Given the description of an element on the screen output the (x, y) to click on. 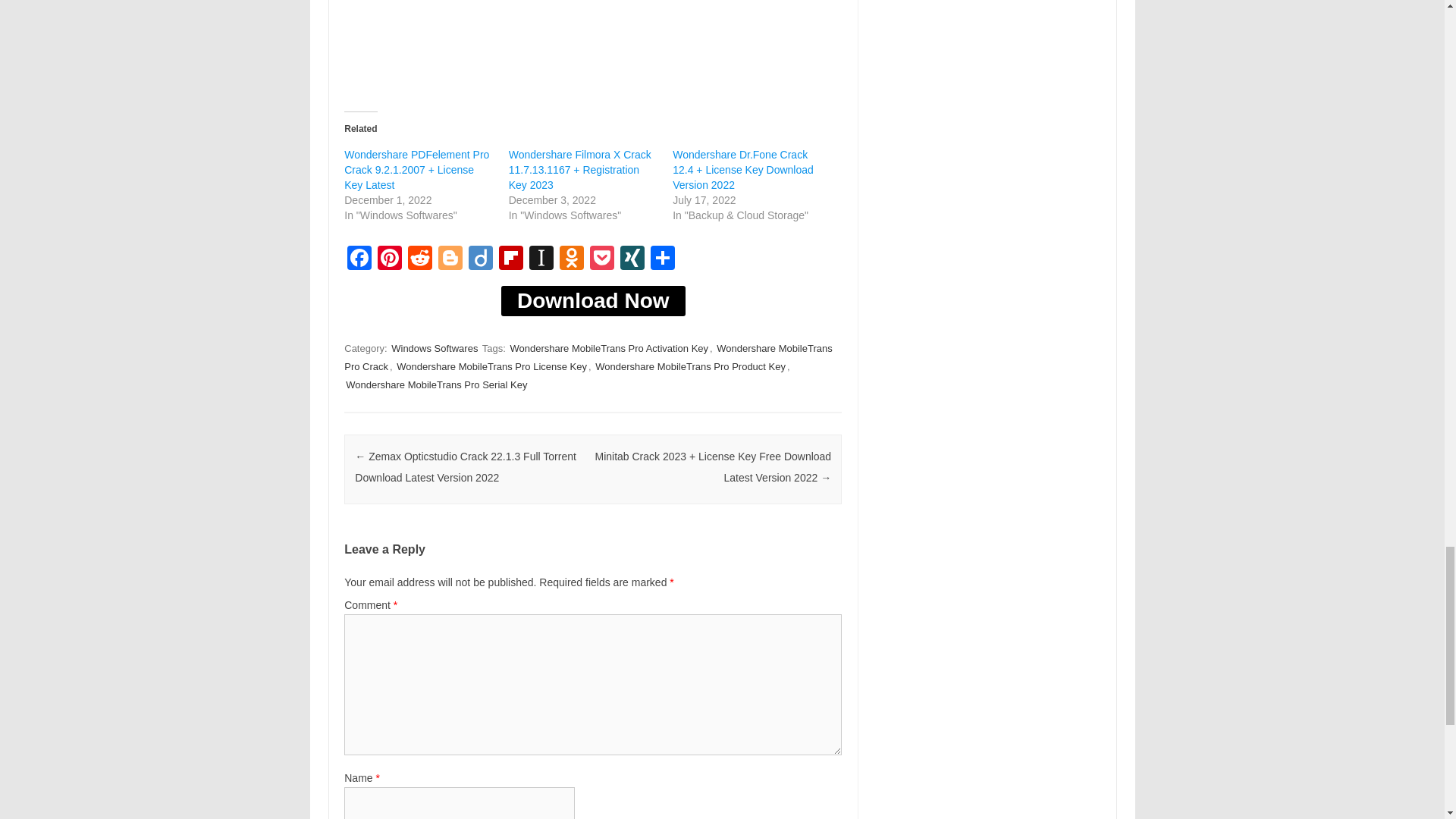
Pinterest (389, 259)
Odnoklassniki (571, 259)
Pocket (601, 259)
Wondershare MobileTrans Pro License Key (491, 366)
Share (662, 259)
Wondershare MobileTrans Pro Activation Key (609, 348)
Diigo (480, 259)
Flipboard (510, 259)
Instapaper (540, 259)
Pocket (601, 259)
